Given the description of an element on the screen output the (x, y) to click on. 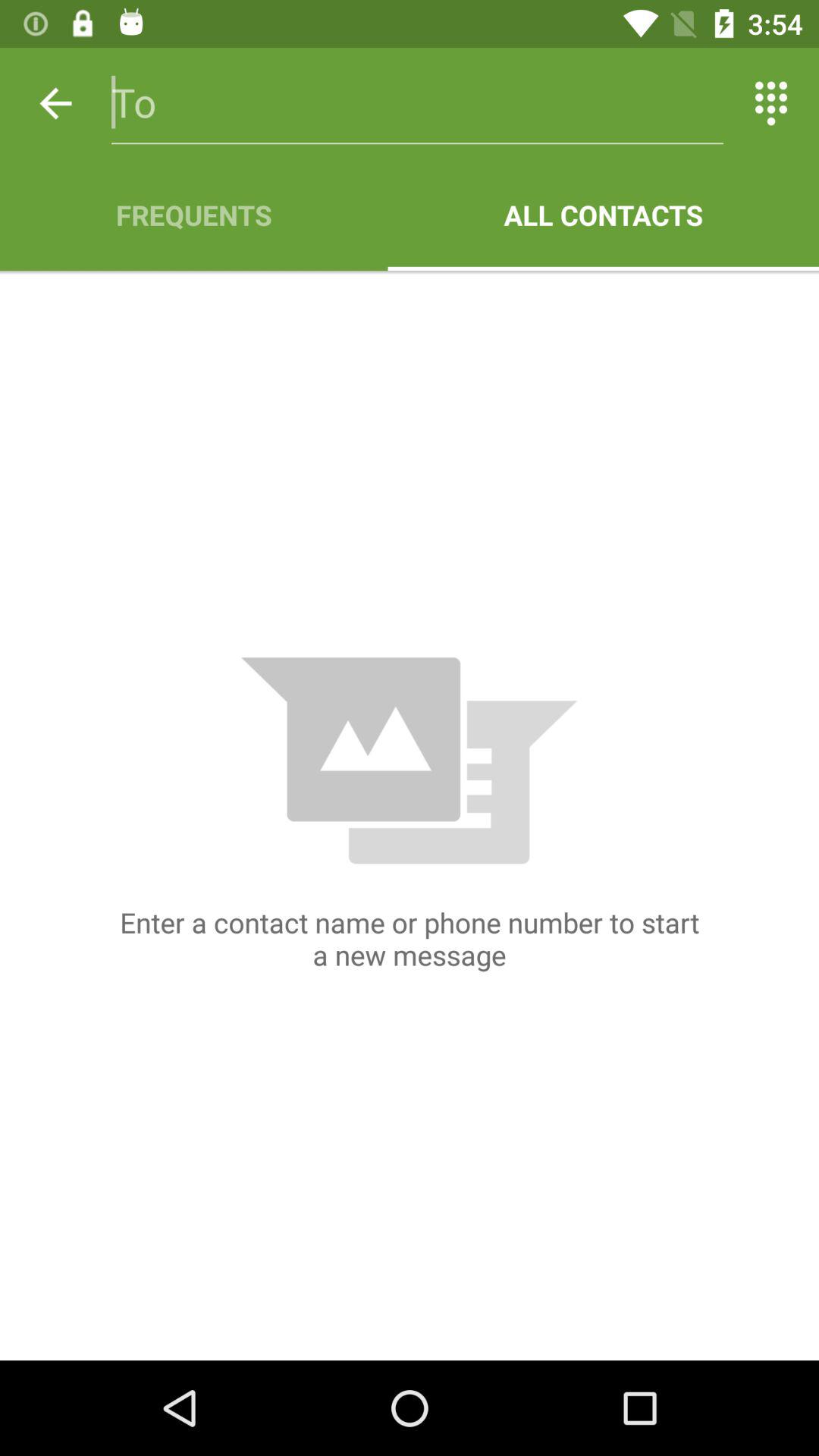
select the item to the left of the all contacts (193, 214)
